Given the description of an element on the screen output the (x, y) to click on. 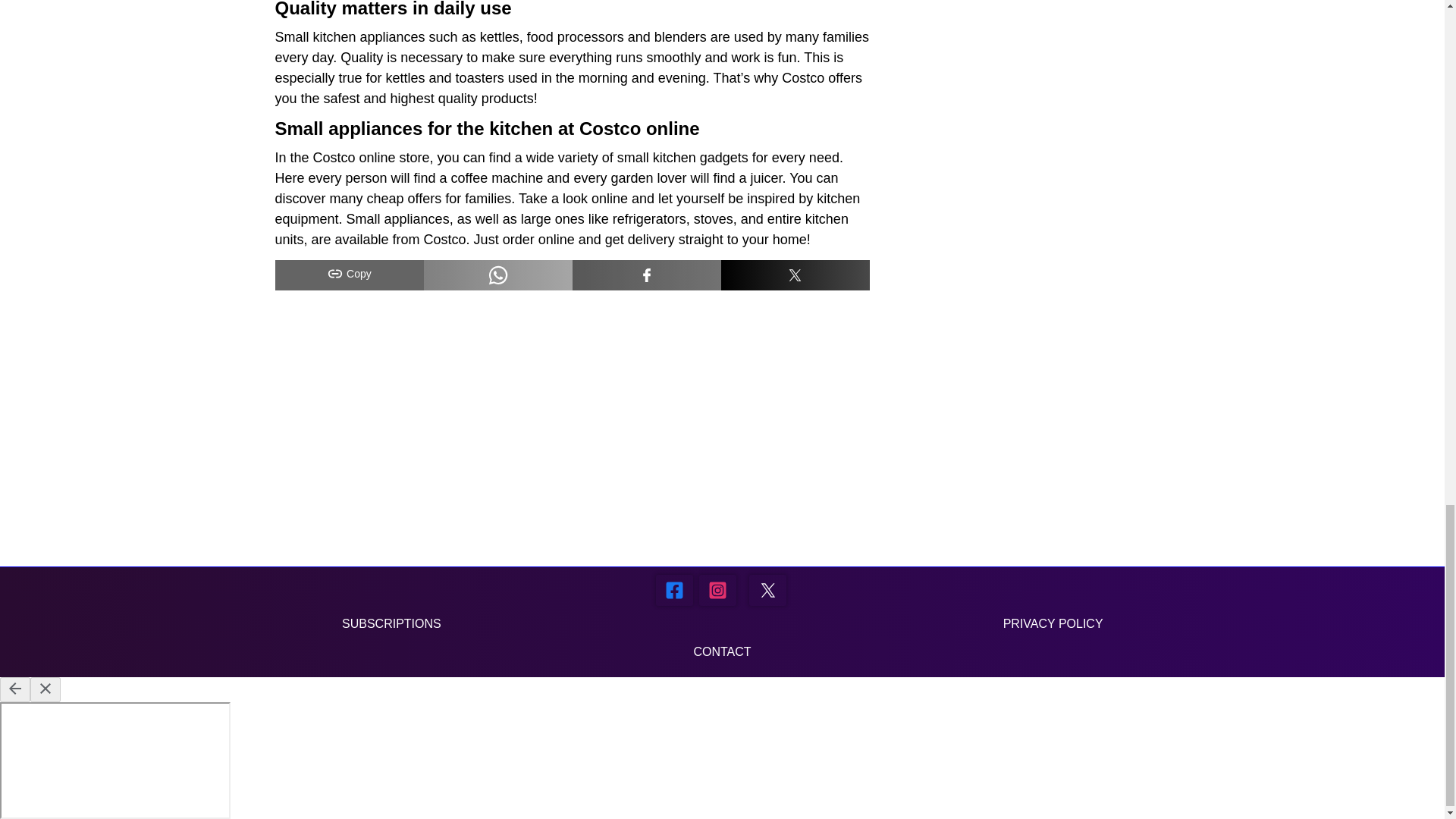
CONTACT (722, 651)
Copy (349, 275)
Share on Whatsapp (497, 275)
OffersTW on Facebook (674, 590)
Share on Facebook (646, 275)
PRIVACY POLICY (1053, 623)
OffersTW on Instagram (717, 590)
OffersTW on X (767, 590)
Share on X (794, 275)
SUBSCRIPTIONS (391, 623)
